Given the description of an element on the screen output the (x, y) to click on. 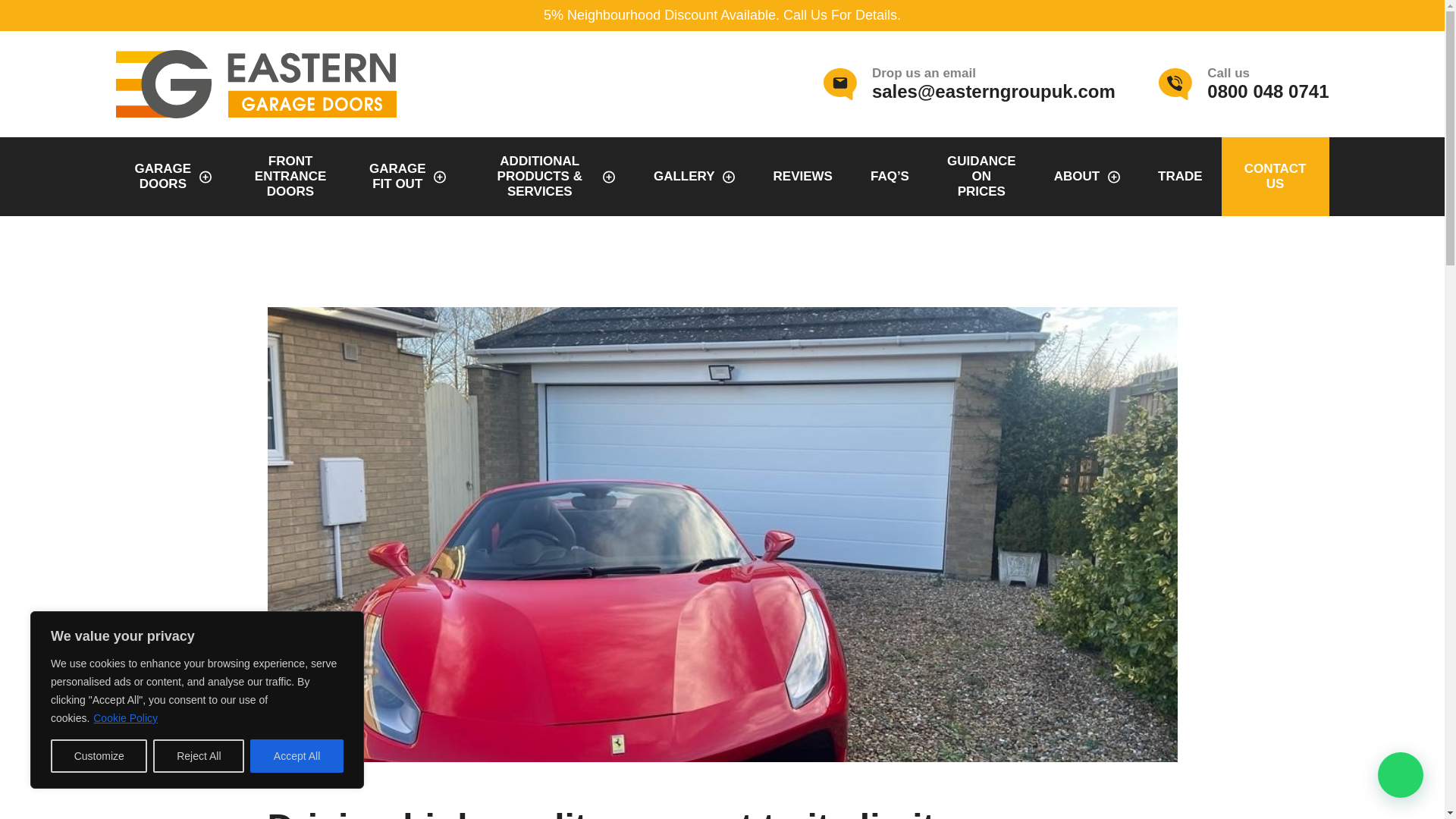
GARAGE DOORS (172, 176)
Cookie Policy (125, 717)
Reject All (198, 756)
FRONT ENTRANCE DOORS (1242, 84)
GARAGE FIT OUT (290, 176)
Accept All (407, 176)
Customize (296, 756)
